Given the description of an element on the screen output the (x, y) to click on. 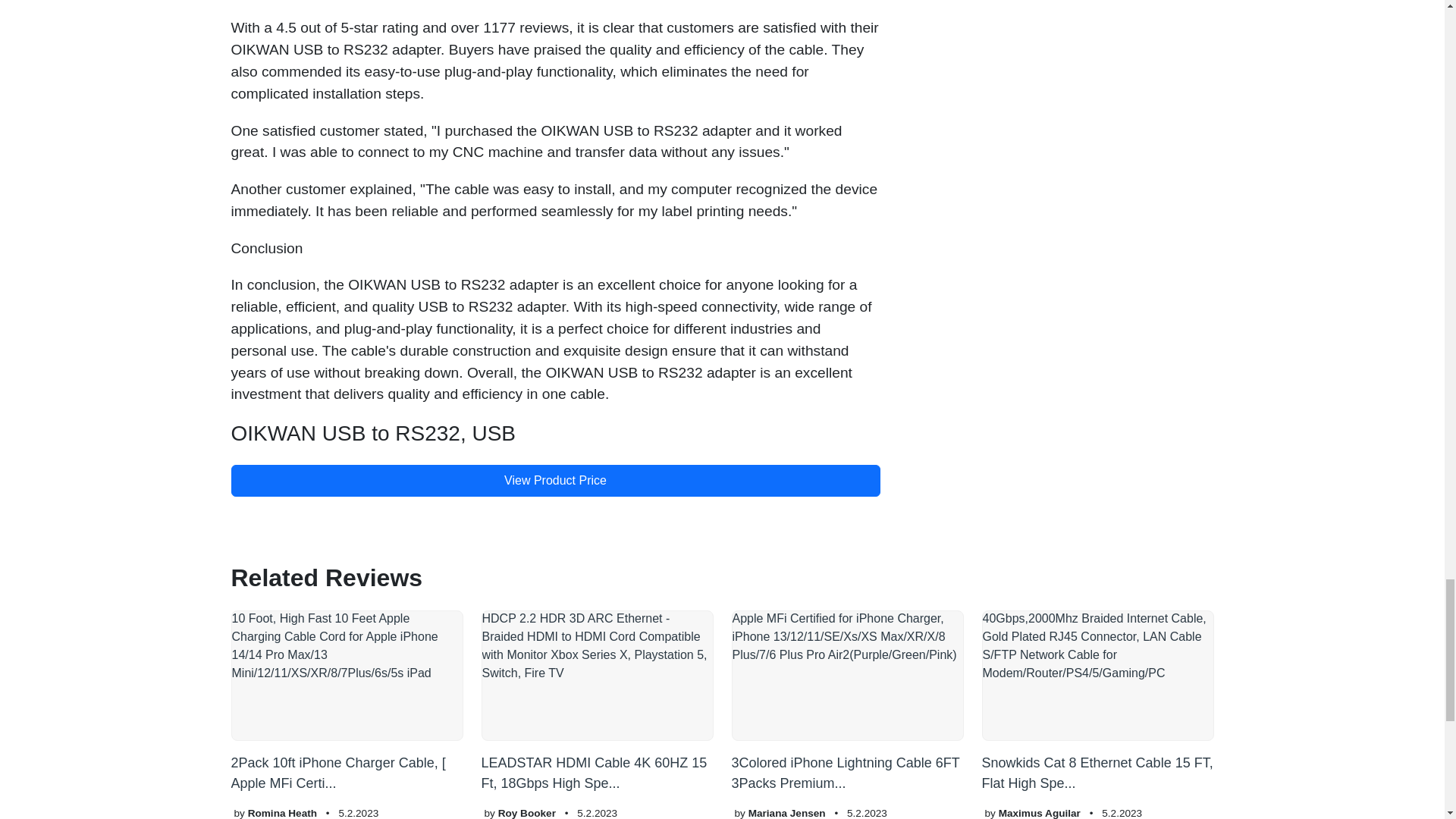
View Product Price (554, 480)
LEADSTAR HDMI Cable 4K 60HZ 15 Ft, 18Gbps High Spe... (596, 701)
Snowkids Cat 8 Ethernet Cable 15 FT, Flat High Spe... (1096, 701)
3Colored iPhone Lightning Cable 6FT 3Packs Premium... (846, 701)
